Given the description of an element on the screen output the (x, y) to click on. 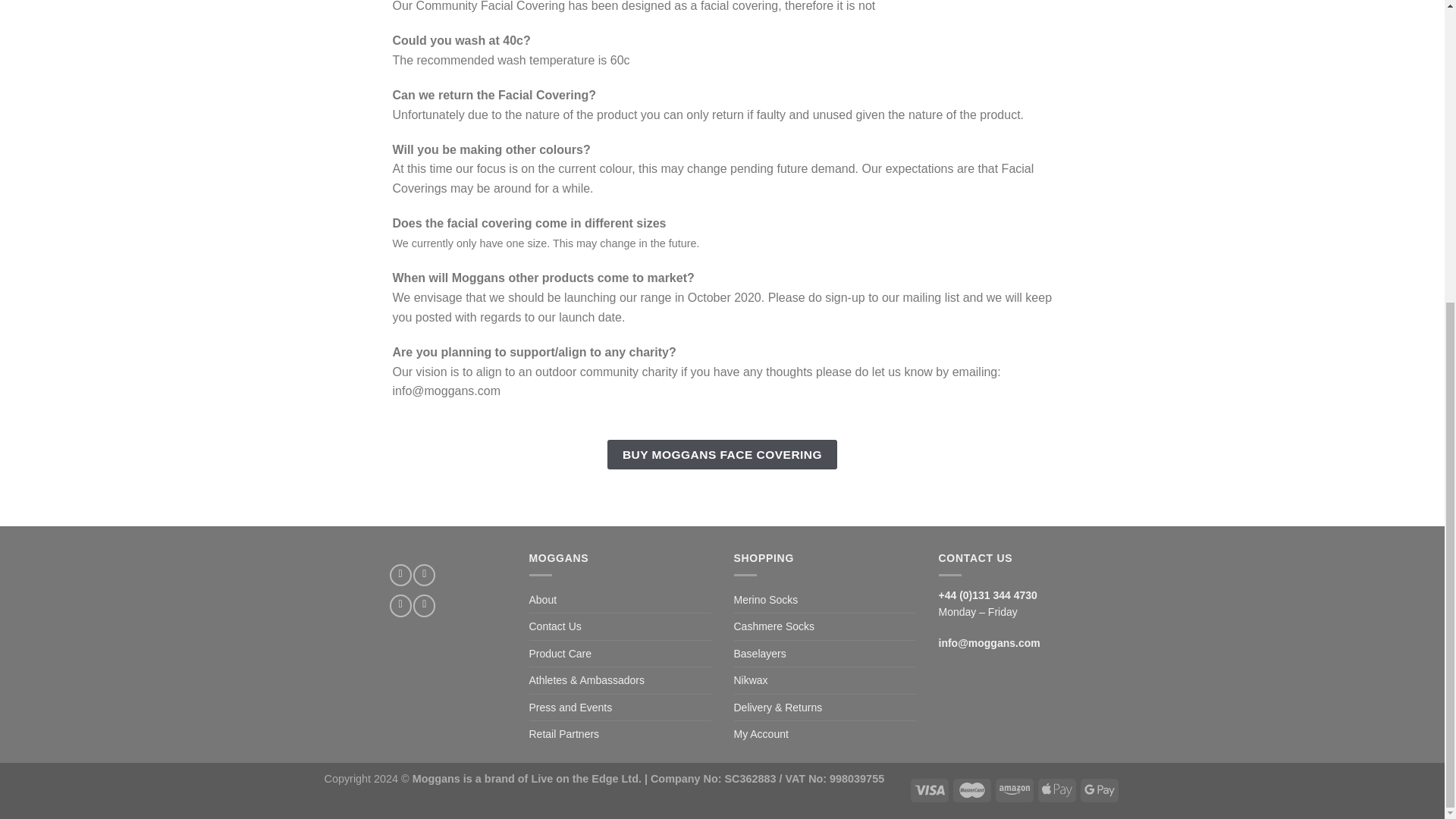
Follow on YouTube (424, 605)
Follow on Twitter (401, 605)
Follow on Instagram (424, 575)
Follow on Facebook (401, 575)
